Given the description of an element on the screen output the (x, y) to click on. 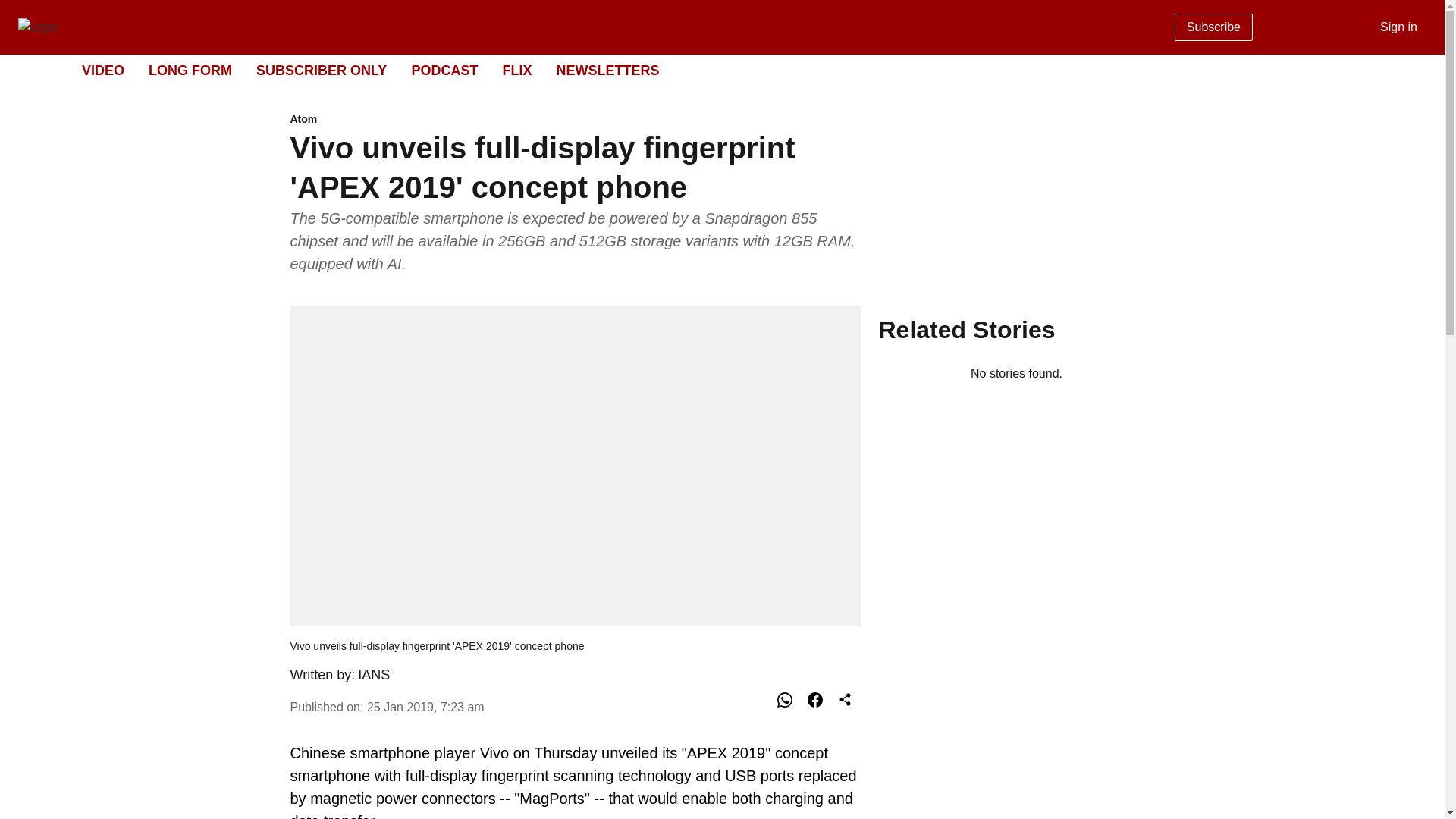
FLIX (516, 70)
IANS (374, 674)
NEWSLETTERS (607, 70)
VIDEO (102, 70)
Dark Mode (709, 70)
PODCAST (1415, 70)
2019-01-25 07:23 (443, 70)
SUBSCRIBER ONLY (425, 707)
LONG FORM (321, 70)
Atom (189, 70)
